Given the description of an element on the screen output the (x, y) to click on. 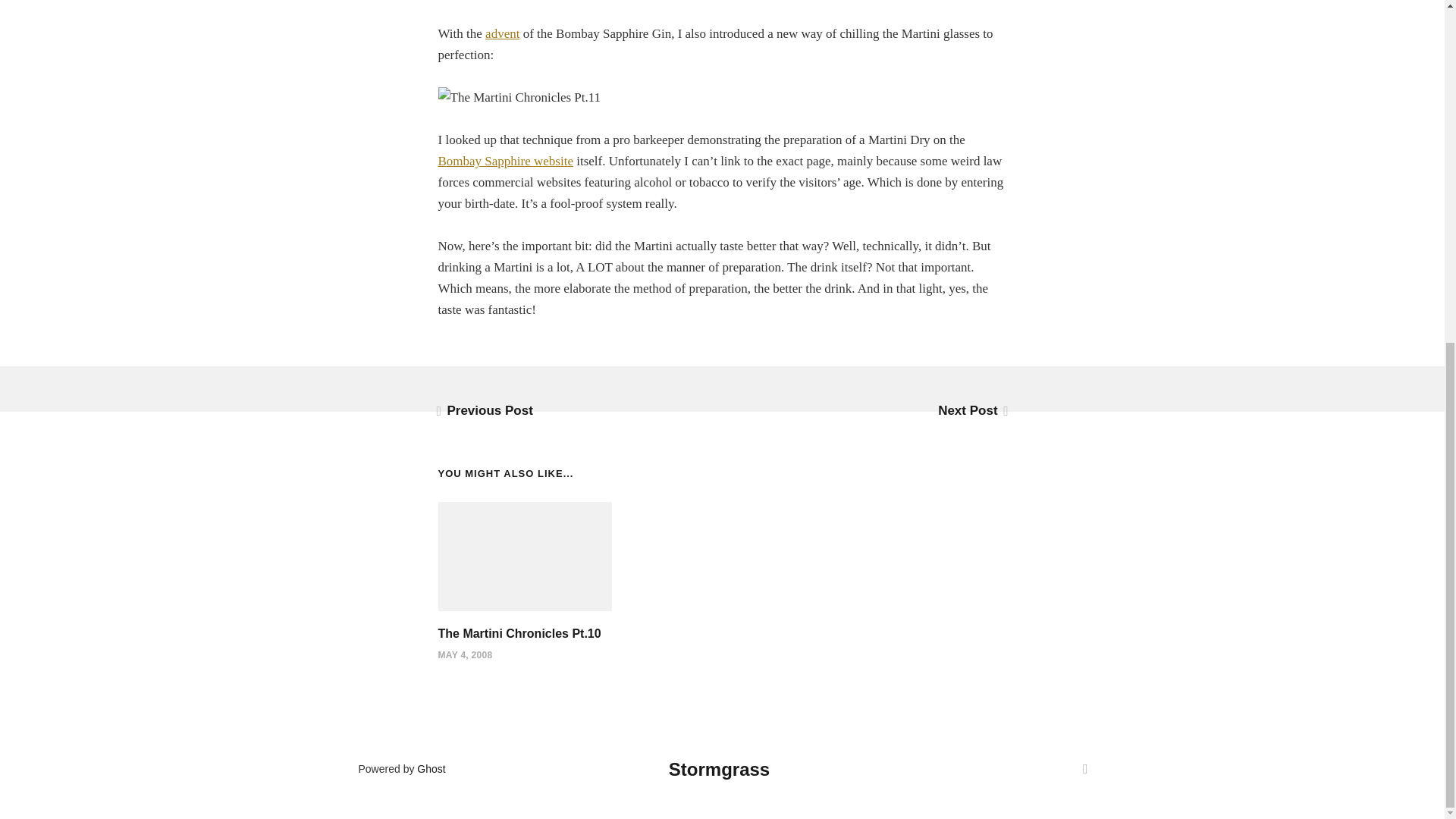
Bombay Sapphire website (505, 160)
The Martini Chronicles Pt.10 (519, 633)
Stormgrass (719, 769)
Ghost (430, 768)
Next Post (971, 410)
Previous Post (485, 410)
advent (501, 33)
